Given the description of an element on the screen output the (x, y) to click on. 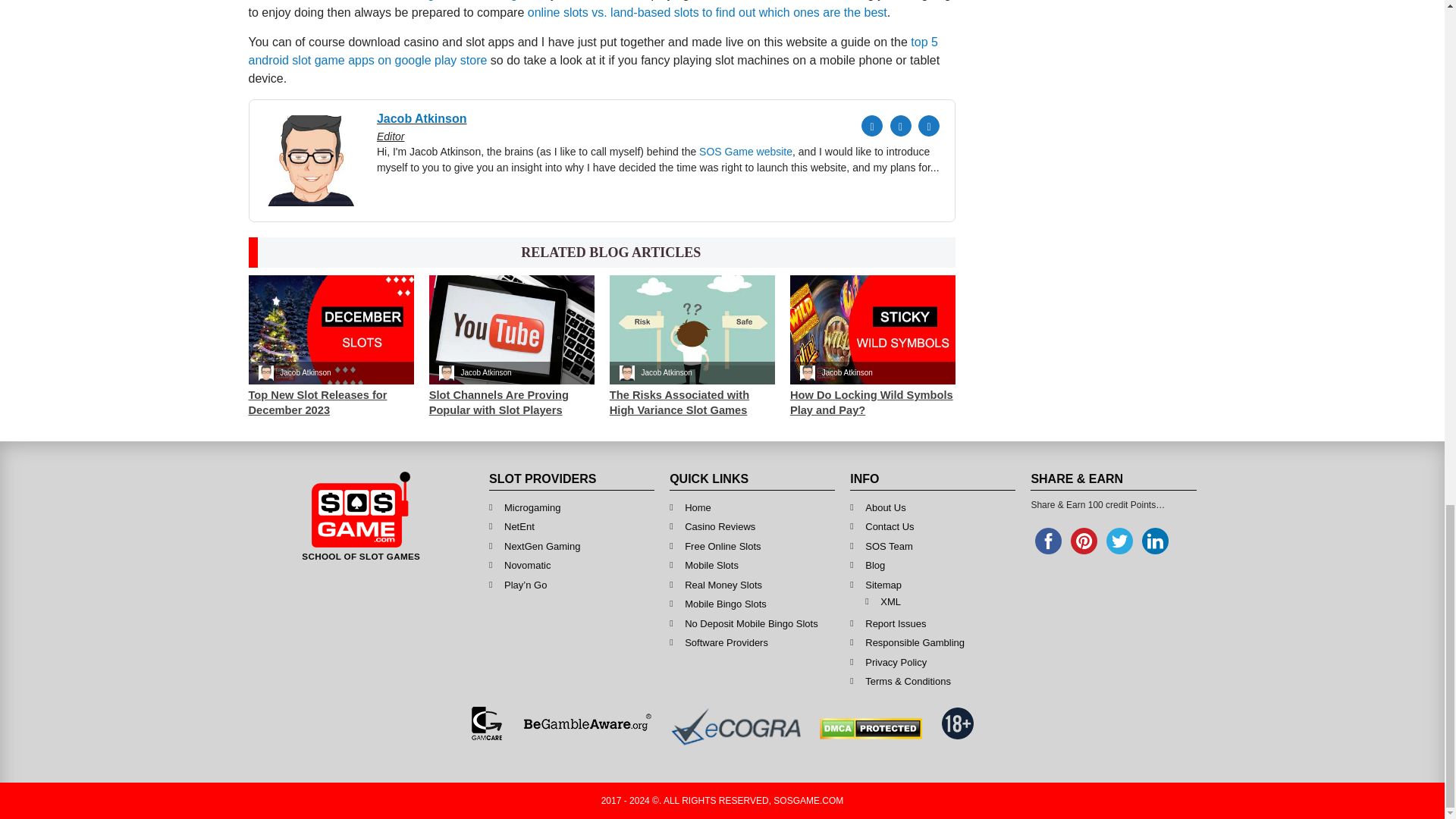
News Thumbnail (692, 329)
News Thumbnail (872, 329)
SOS Game website (745, 151)
News Thumbnail (511, 329)
Jacob Atkinson (514, 126)
top 5 android slot game apps on google play store (592, 51)
pinterest (1083, 540)
twitter (1119, 540)
News Thumbnail (330, 329)
facebook (1047, 540)
